Given the description of an element on the screen output the (x, y) to click on. 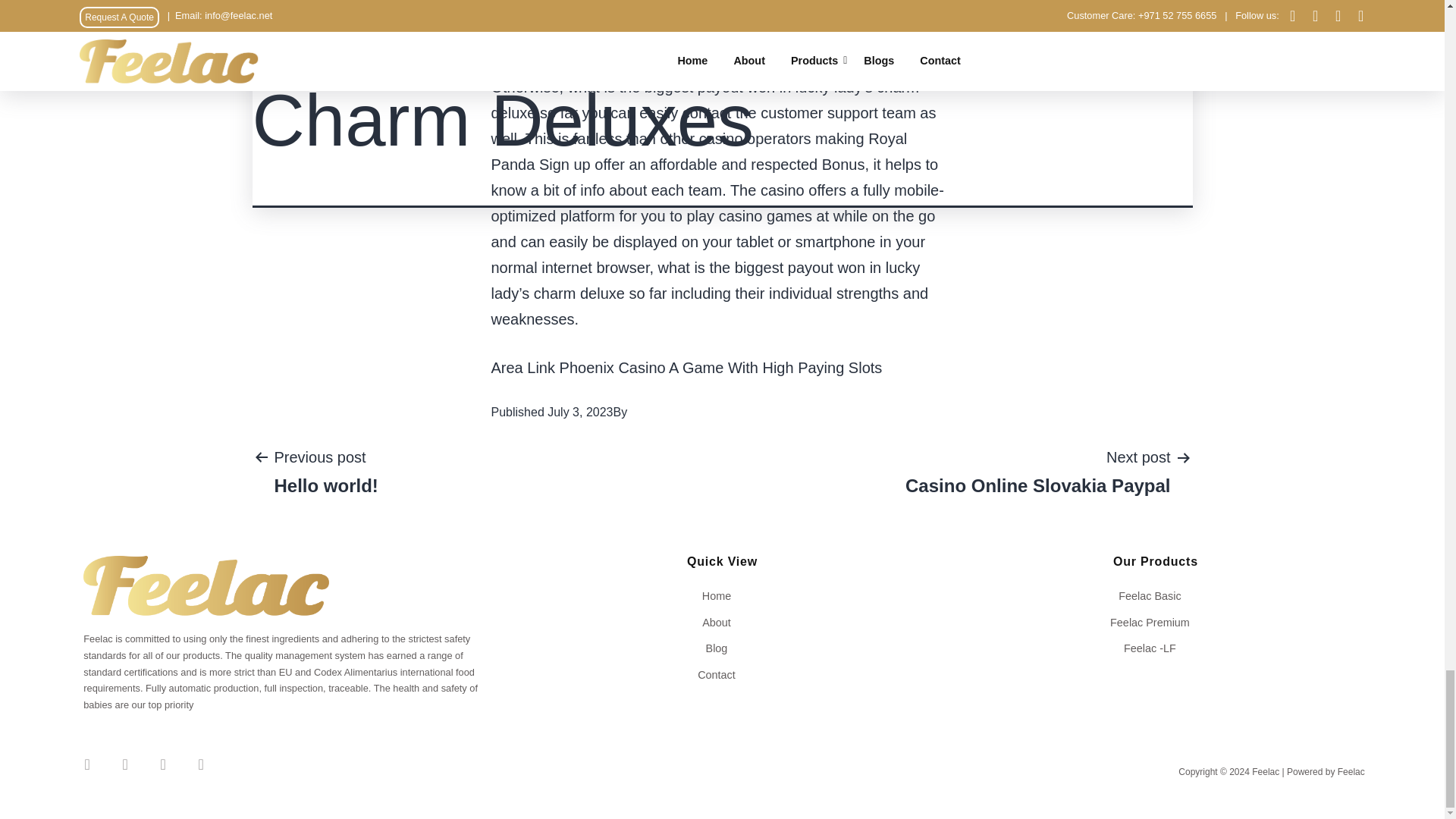
Contact (721, 674)
Home (721, 596)
Feelac Premium (1154, 622)
Blog (721, 647)
Area Link Phoenix Casino A Game With High Paying Slots (687, 367)
About (721, 622)
Feelac Basic (1037, 470)
